Given the description of an element on the screen output the (x, y) to click on. 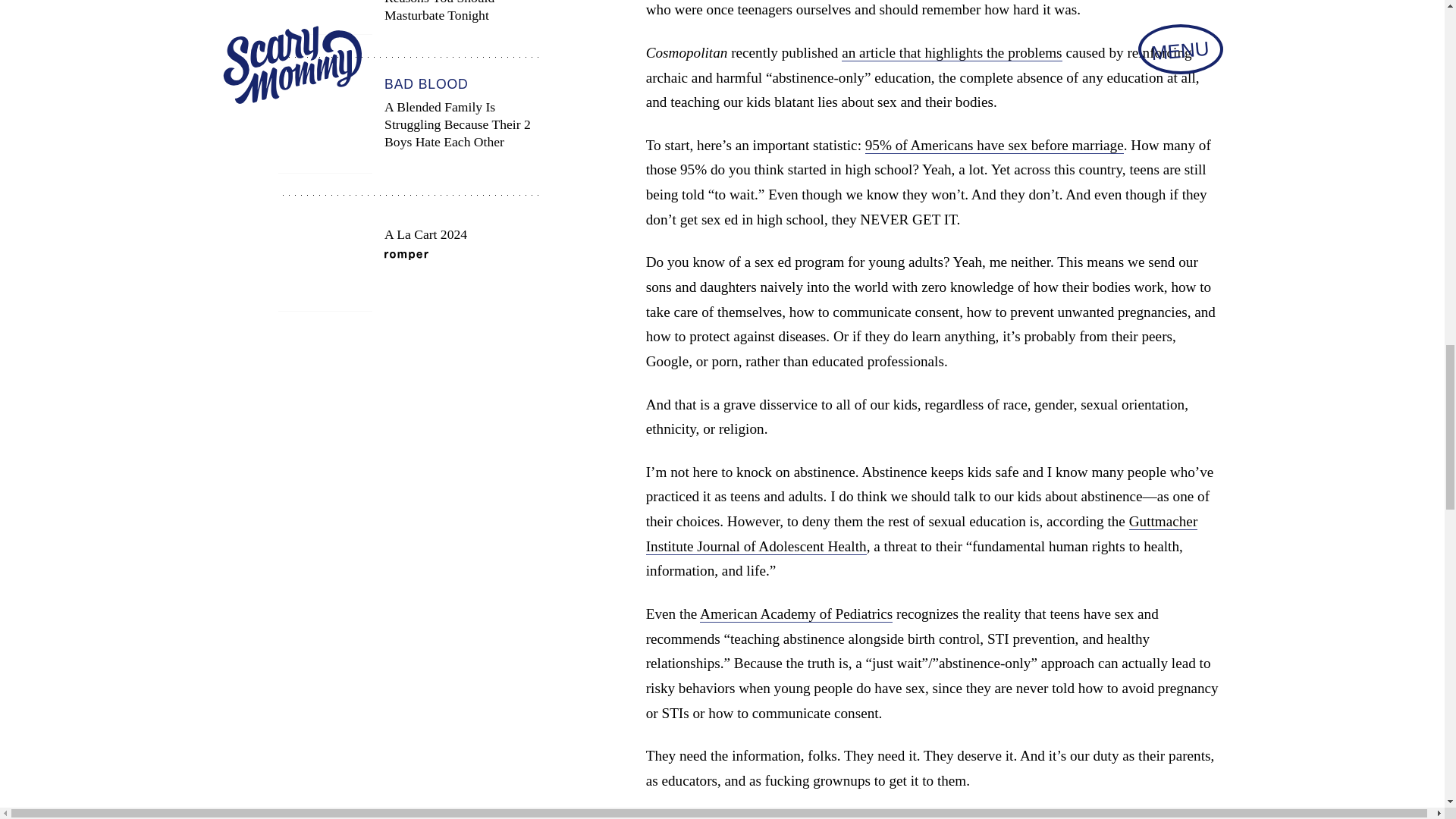
an article that highlights the problems (951, 53)
Guttmacher Institute Journal of Adolescent Health (922, 534)
A La Cart 2024 (410, 263)
American Academy of Pediatrics (796, 614)
